Given the description of an element on the screen output the (x, y) to click on. 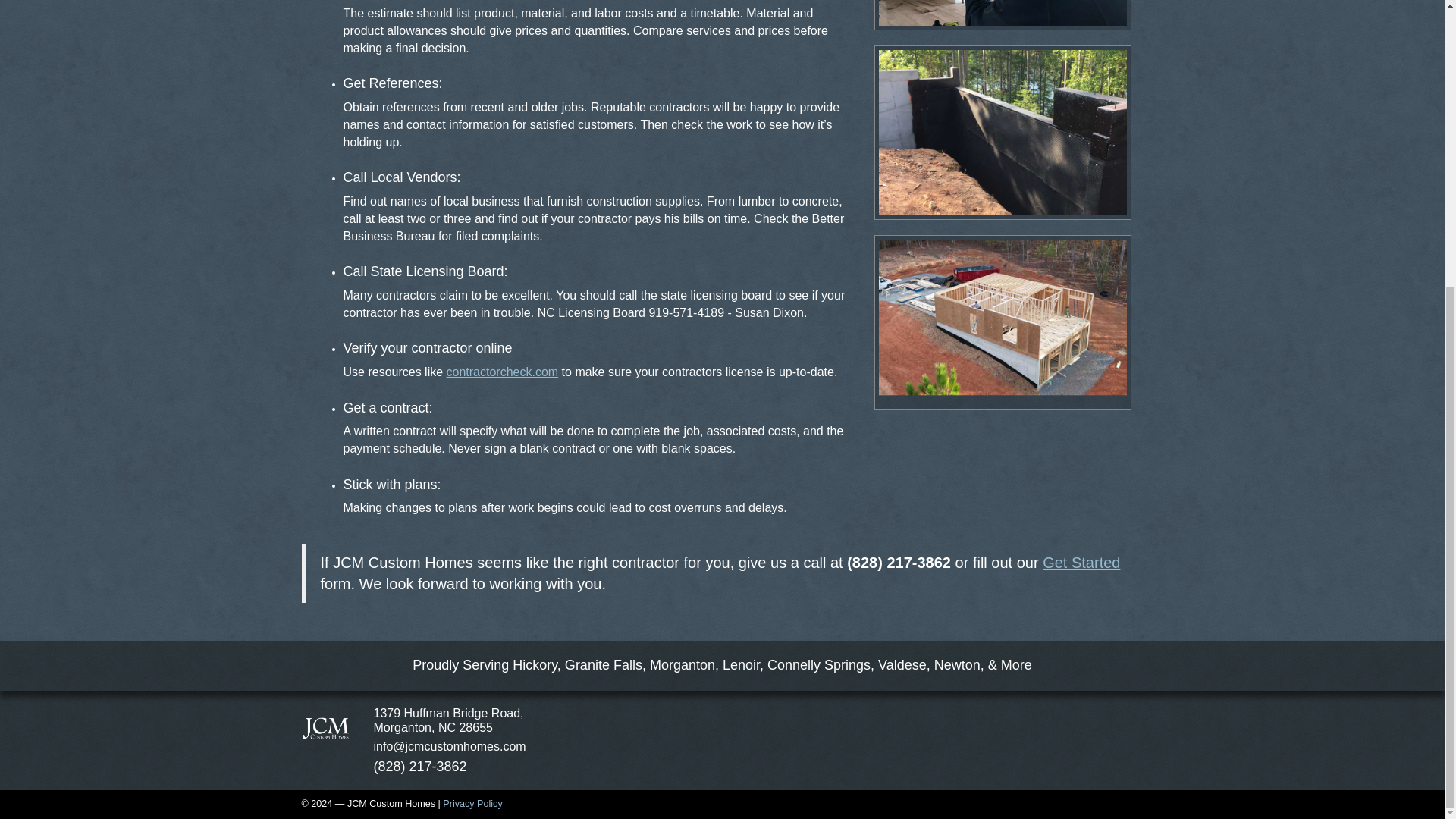
Extremely clean jobsites (1001, 322)
Custom stair builder (1001, 12)
Privacy Policy (472, 803)
contractorcheck.com (502, 371)
Privacy Policy  (472, 803)
Waterproofing below grade (1001, 132)
Get Started (1080, 562)
